Given the description of an element on the screen output the (x, y) to click on. 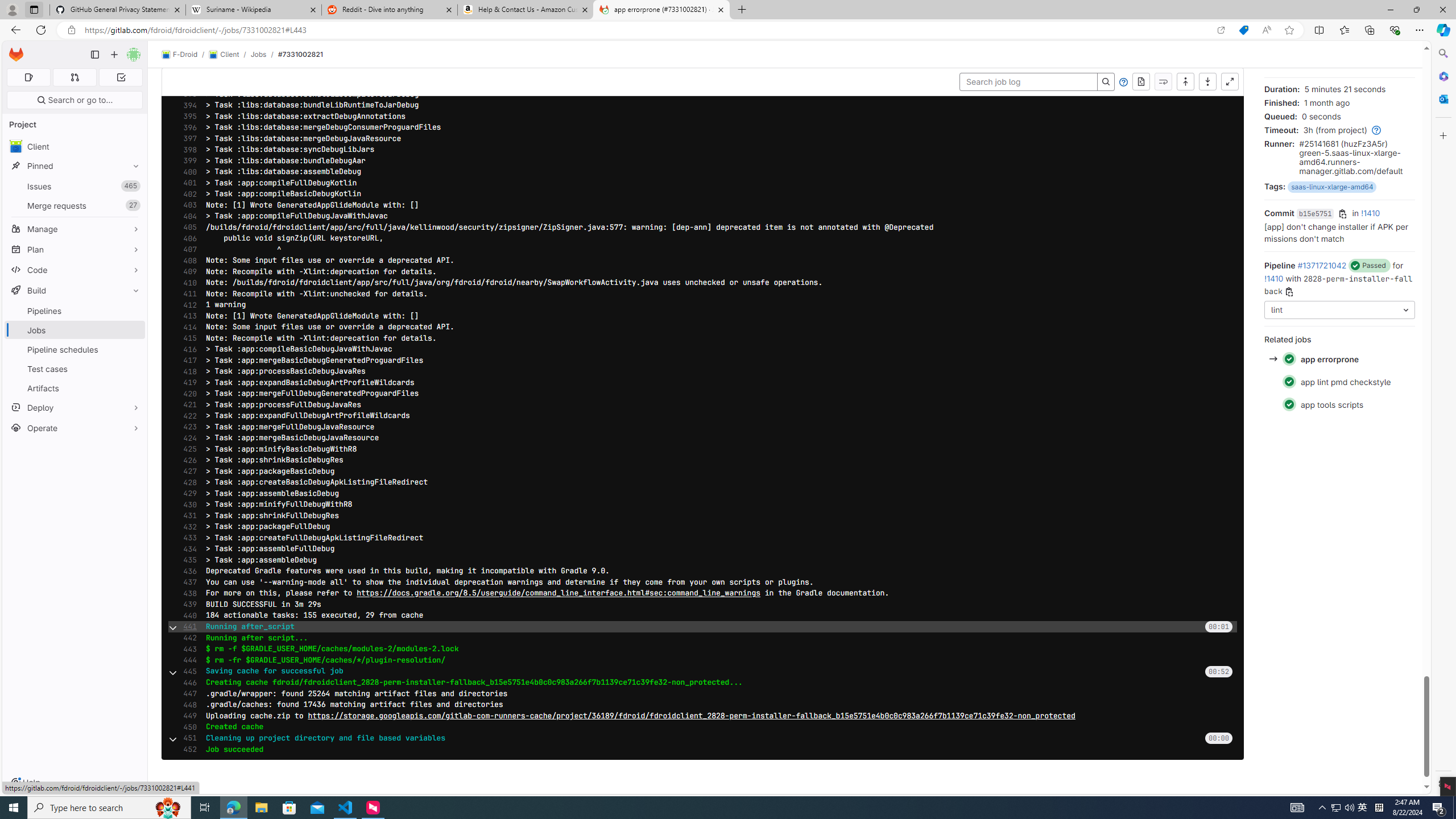
445 (186, 671)
413 (186, 315)
Deploy (74, 407)
#7331002821 (300, 53)
Pin Artifacts (132, 387)
393 (186, 93)
410 (186, 282)
441 Running after_script 00:01 (702, 626)
Artifacts (74, 387)
Test cases (74, 368)
391 (186, 71)
420 (186, 393)
Pin Pipeline schedules (132, 349)
